Given the description of an element on the screen output the (x, y) to click on. 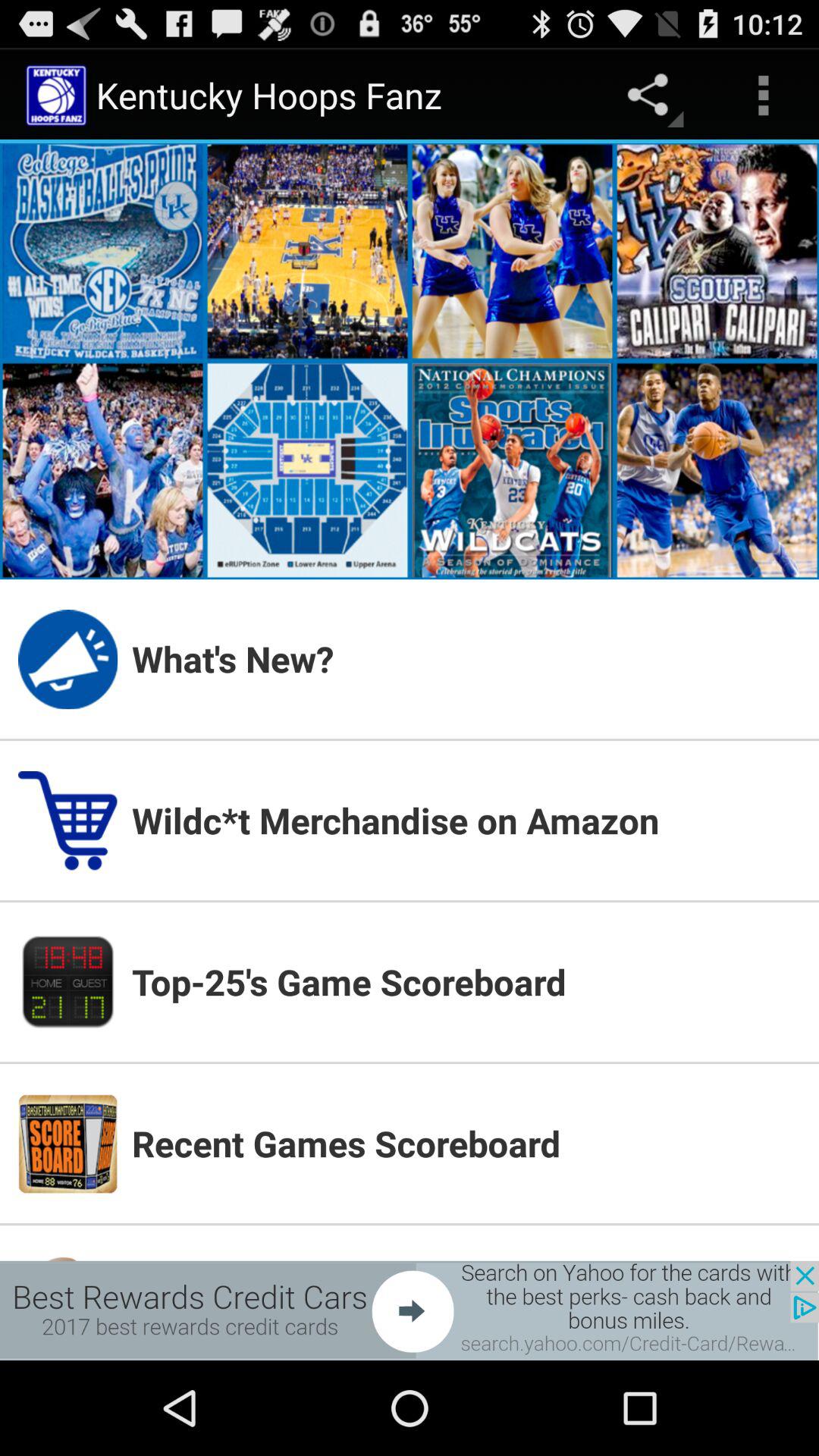
banner advertisement (409, 1310)
